Given the description of an element on the screen output the (x, y) to click on. 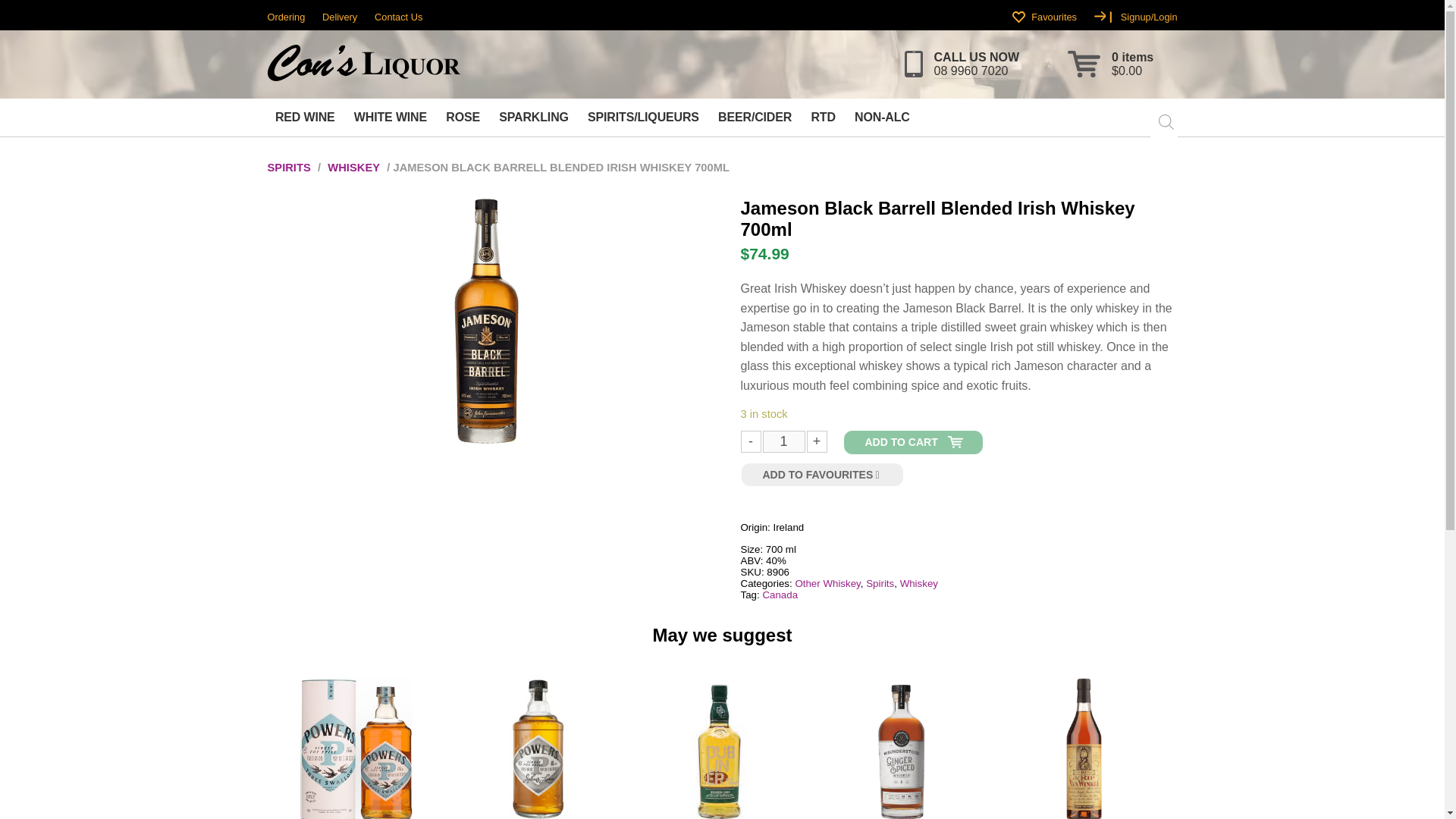
0 items (1132, 56)
08 9960 7020 (971, 70)
CALL US NOW (977, 56)
Favourites (1053, 16)
view cart (1132, 56)
view cart (1126, 69)
RED WINE (304, 117)
Contact Us (398, 16)
Ordering (285, 16)
Delivery (338, 16)
Add to Favourites (821, 474)
1 (782, 441)
